Given the description of an element on the screen output the (x, y) to click on. 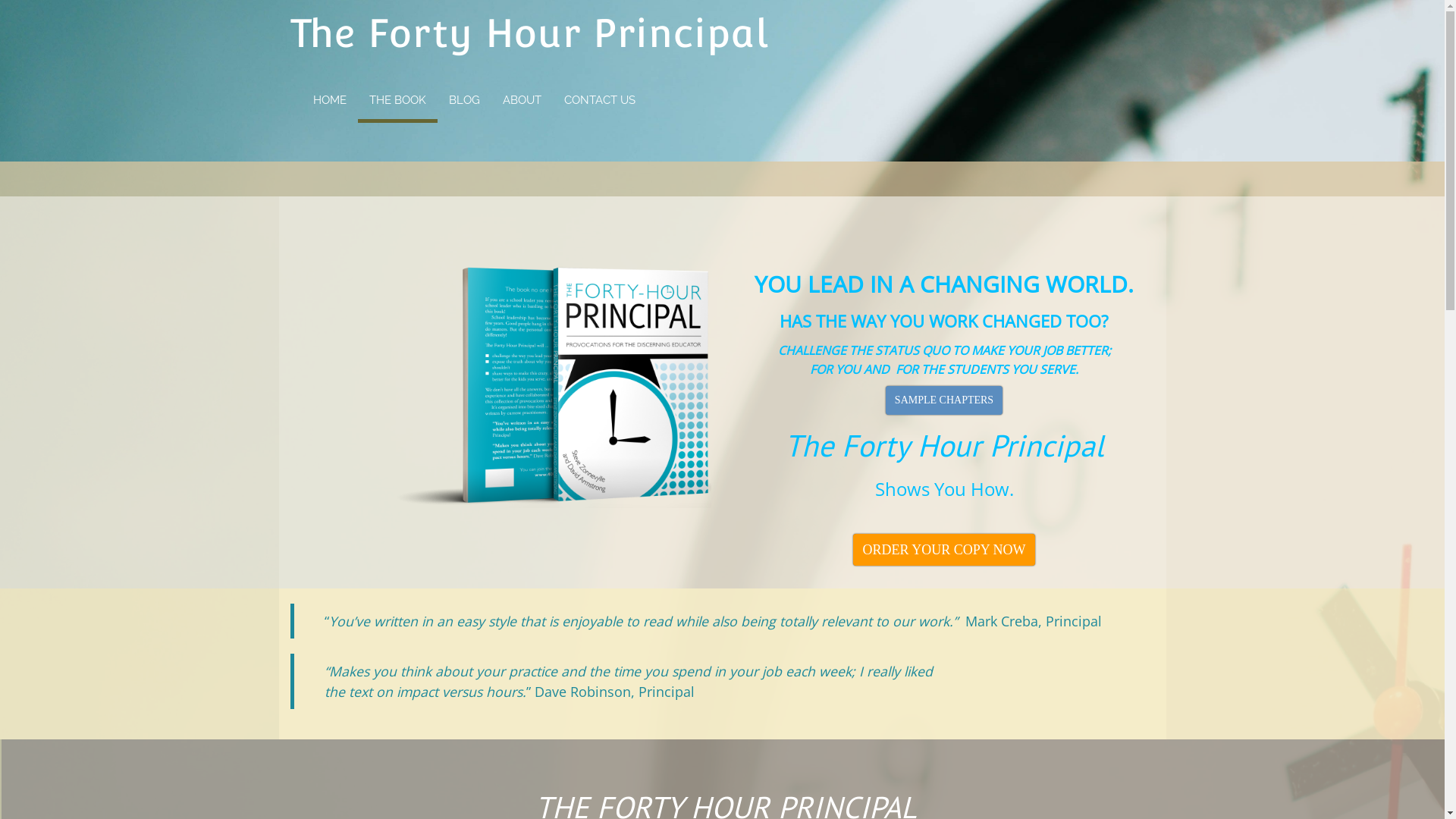
HOME Element type: text (329, 99)
The Forty Hour Principal Element type: text (528, 33)
ABOUT Element type: text (521, 99)
BLOG Element type: text (463, 99)
ORDER YOUR COPY NOW Element type: text (943, 549)
THE BOOK Element type: text (397, 101)
SAMPLE CHAPTERS Element type: text (943, 399)
CONTACT US Element type: text (599, 99)
